Given the description of an element on the screen output the (x, y) to click on. 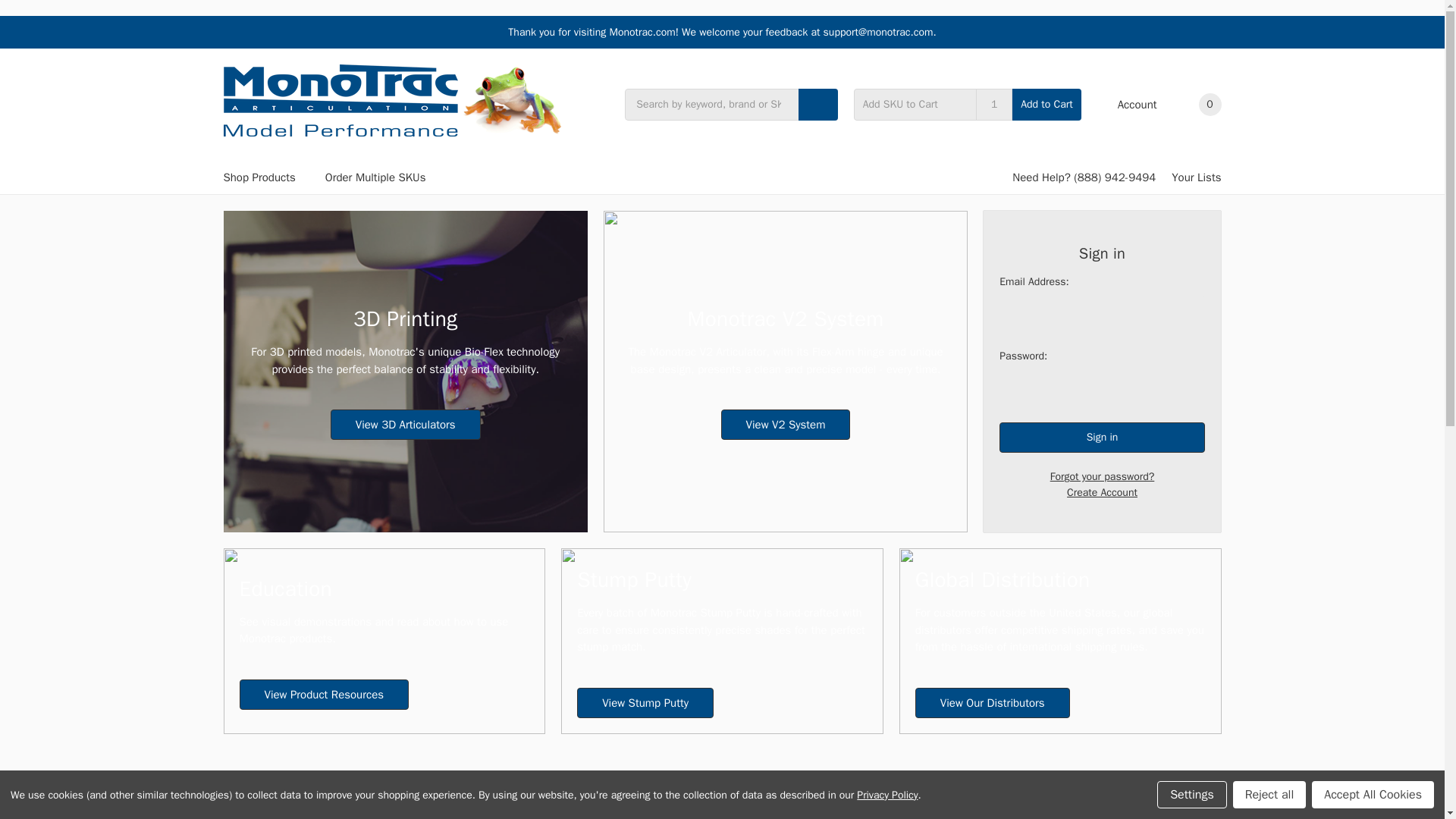
Your Lists (1196, 177)
Account (1127, 104)
MonoTrac Articulation (393, 100)
Order Multiple SKUs (375, 177)
Shop Products (265, 177)
Sign in (1101, 437)
Sign in (1101, 437)
0 (1197, 104)
Forgot your password? (1102, 476)
Create Account (1101, 492)
